Given the description of an element on the screen output the (x, y) to click on. 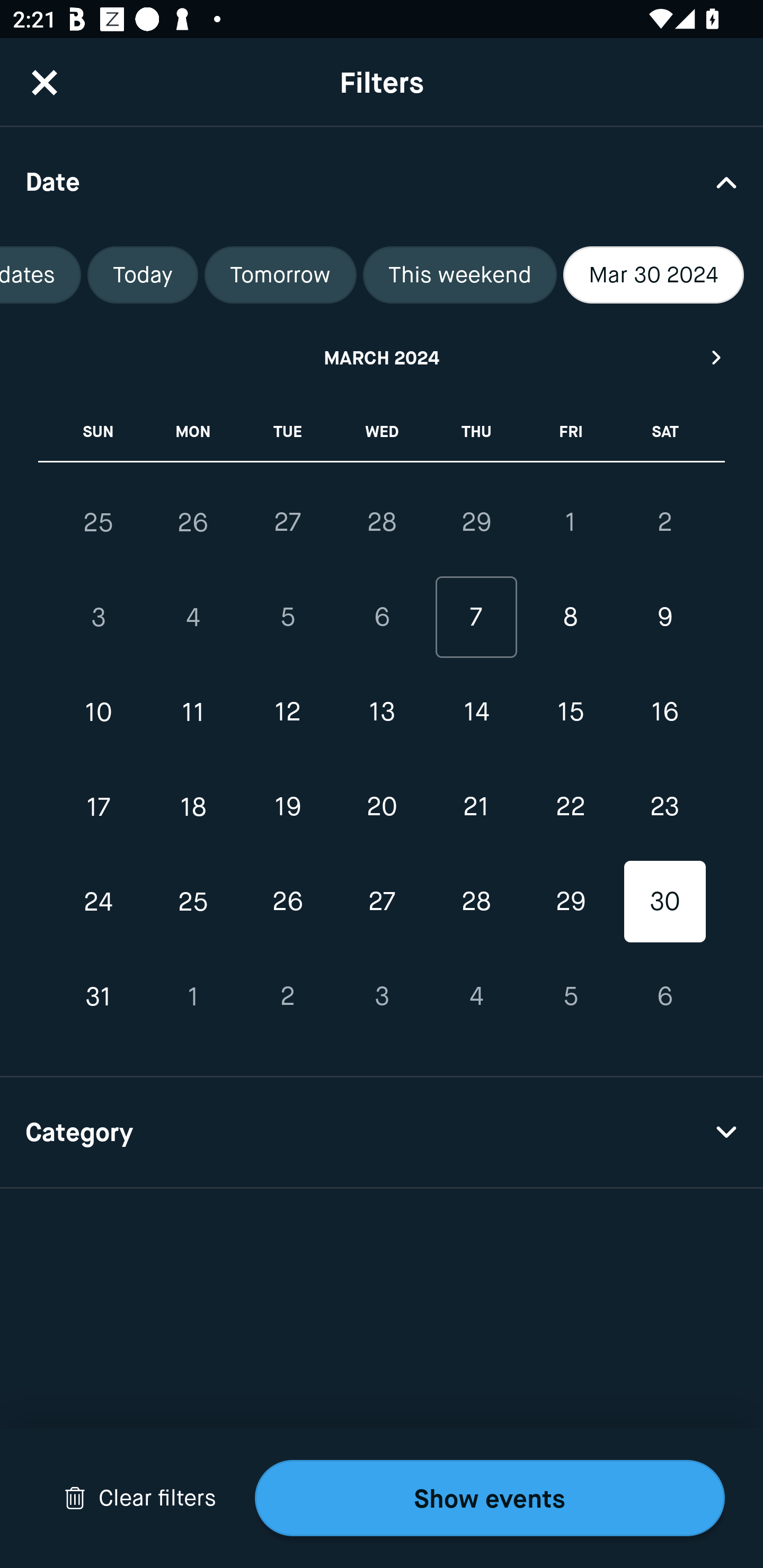
CloseButton (44, 82)
Date Drop Down Arrow (381, 181)
Today (142, 274)
Tomorrow (280, 274)
This weekend (459, 274)
Mar 30 2024 (653, 274)
Next (717, 357)
25 (98, 522)
26 (192, 522)
27 (287, 522)
28 (381, 522)
29 (475, 522)
1 (570, 522)
2 (664, 522)
3 (98, 617)
4 (192, 617)
5 (287, 617)
6 (381, 617)
7 (475, 617)
8 (570, 617)
9 (664, 617)
10 (98, 711)
11 (192, 711)
12 (287, 711)
13 (381, 711)
14 (475, 711)
15 (570, 711)
16 (664, 711)
17 (98, 806)
18 (192, 806)
19 (287, 806)
20 (381, 806)
21 (475, 806)
22 (570, 806)
23 (664, 806)
24 (98, 901)
25 (192, 901)
26 (287, 901)
27 (381, 901)
28 (475, 901)
29 (570, 901)
30 (664, 901)
31 (98, 996)
1 (192, 996)
2 (287, 996)
3 (381, 996)
4 (475, 996)
5 (570, 996)
6 (664, 996)
Category Drop Down Arrow (381, 1132)
Drop Down Arrow Clear filters (139, 1497)
Show events (489, 1497)
